Given the description of an element on the screen output the (x, y) to click on. 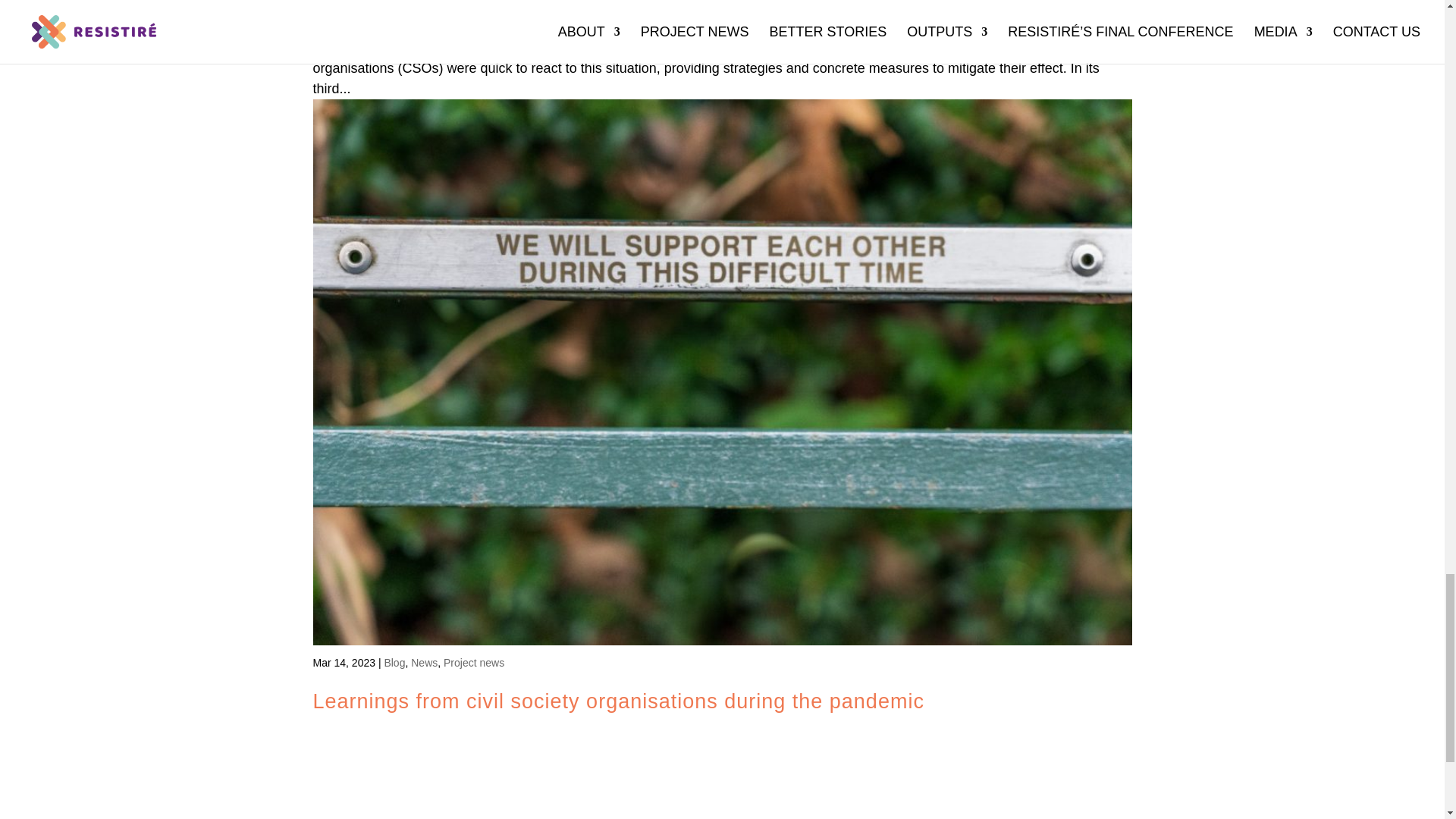
Blog (394, 662)
News (424, 662)
Project news (473, 662)
